Given the description of an element on the screen output the (x, y) to click on. 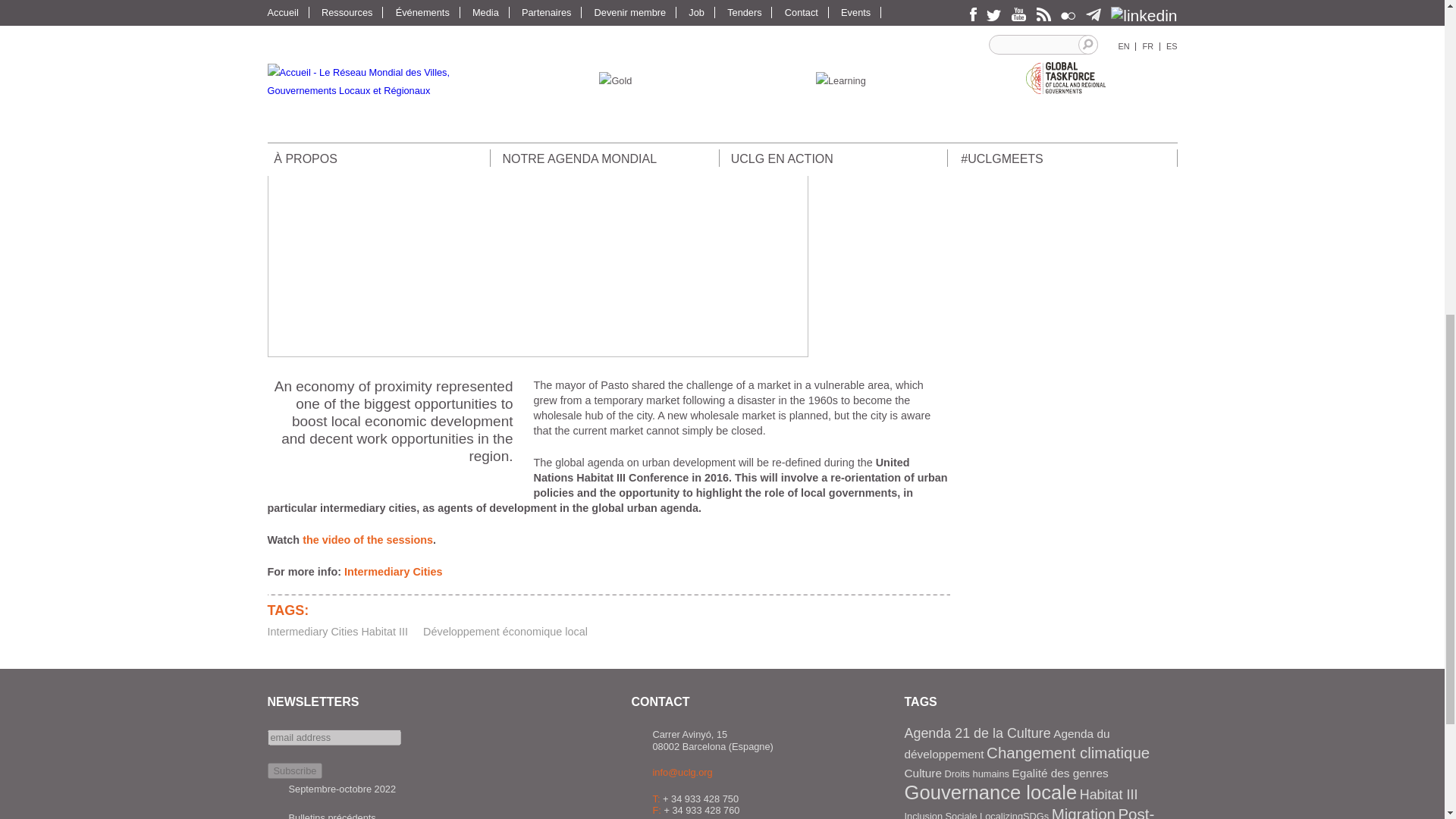
Subscribe (293, 770)
